Given the description of an element on the screen output the (x, y) to click on. 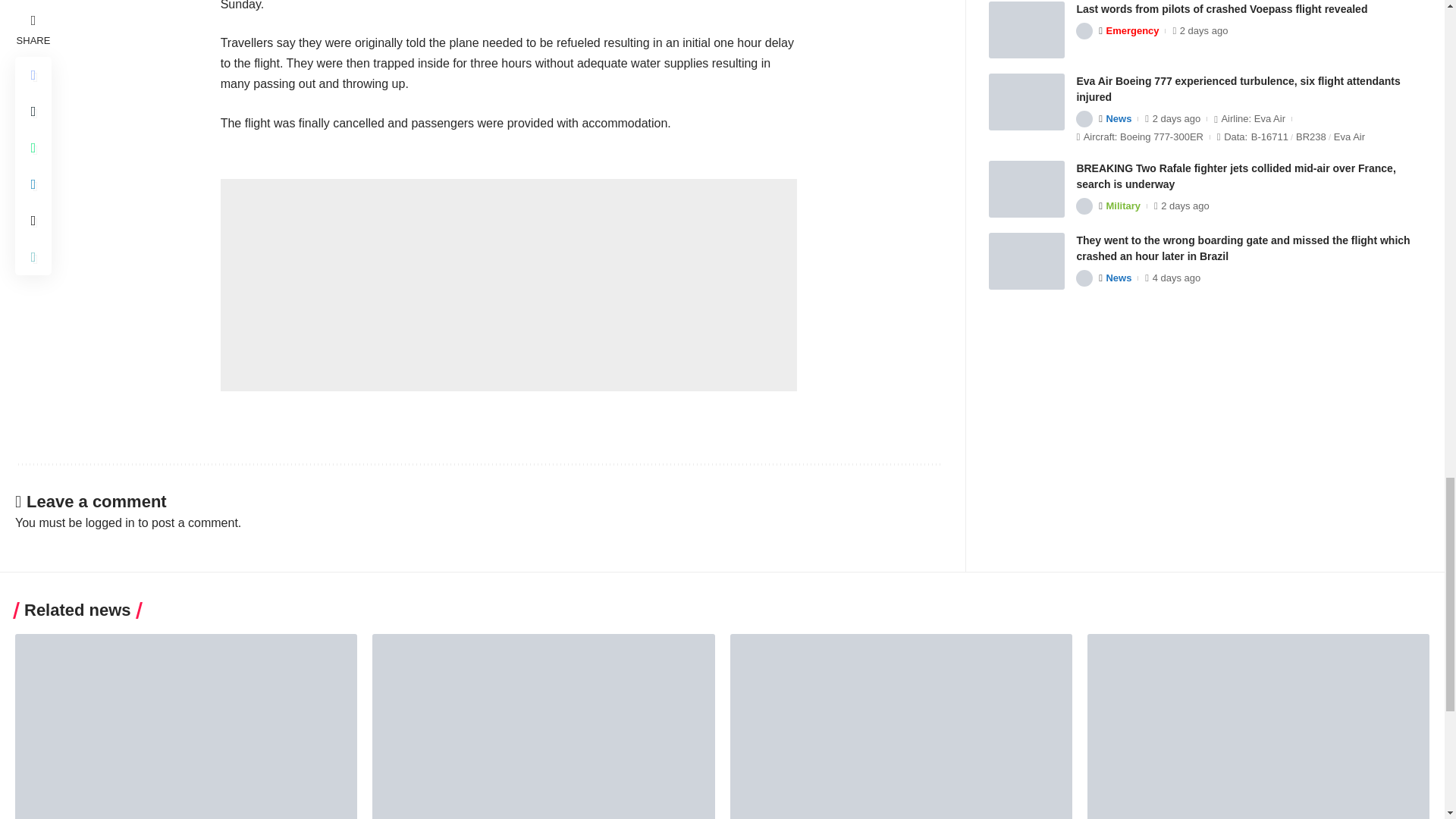
BREAKING A Voepass ATR-72 has crashed in Sao Paulo, Brazil (900, 726)
